Given the description of an element on the screen output the (x, y) to click on. 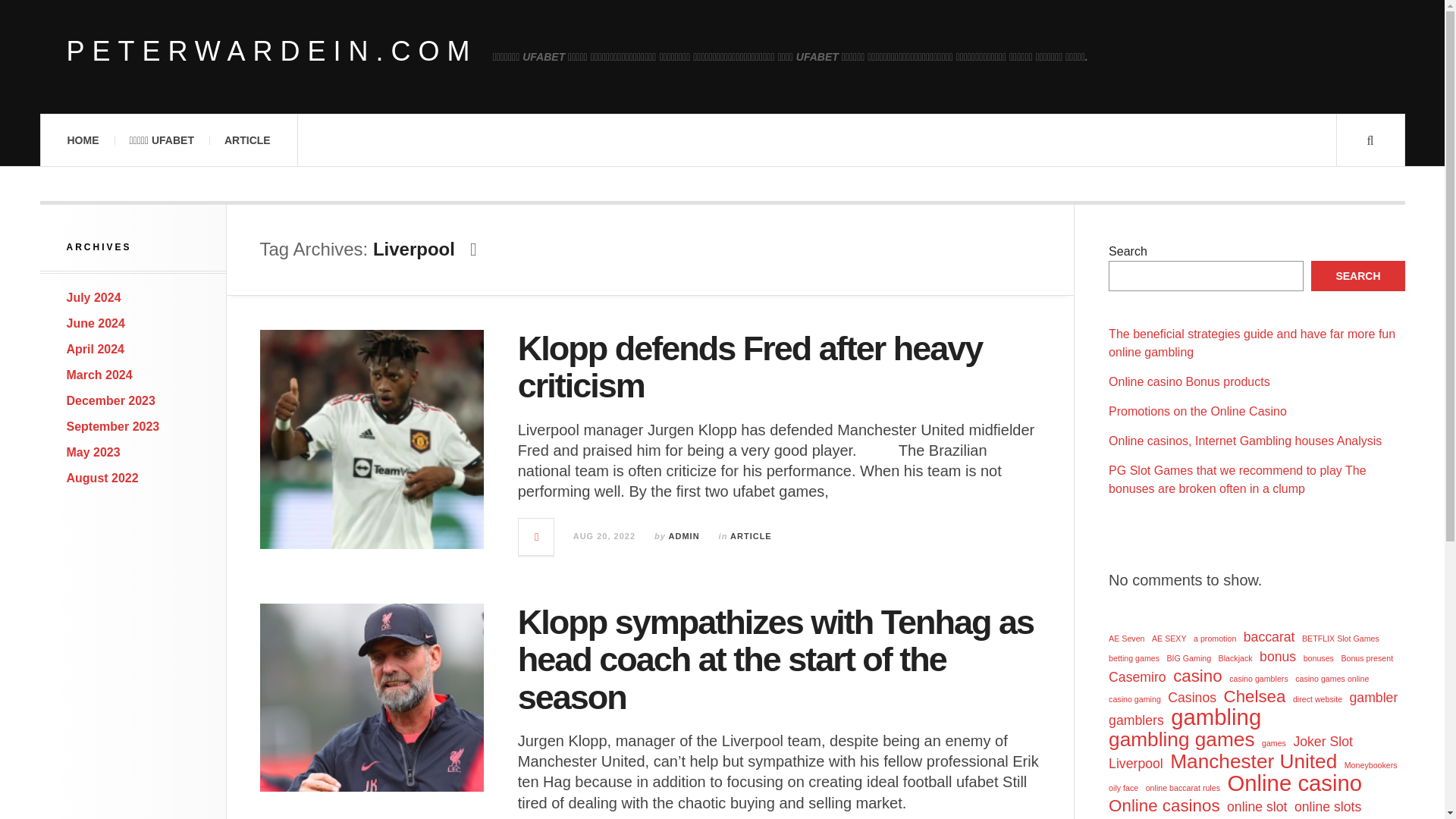
AE SEXY (1168, 638)
PETERWARDEIN.COM (271, 51)
June 2024 (95, 323)
SEARCH (1358, 276)
ADMIN (684, 535)
ARTICLE (750, 535)
betting games (1133, 658)
ARTICLE (247, 140)
BETFLIX Slot Games (1339, 638)
December 2023 (110, 400)
a promotion (1214, 638)
Promotions on the Online Casino (1197, 410)
AE Seven (1126, 638)
